Given the description of an element on the screen output the (x, y) to click on. 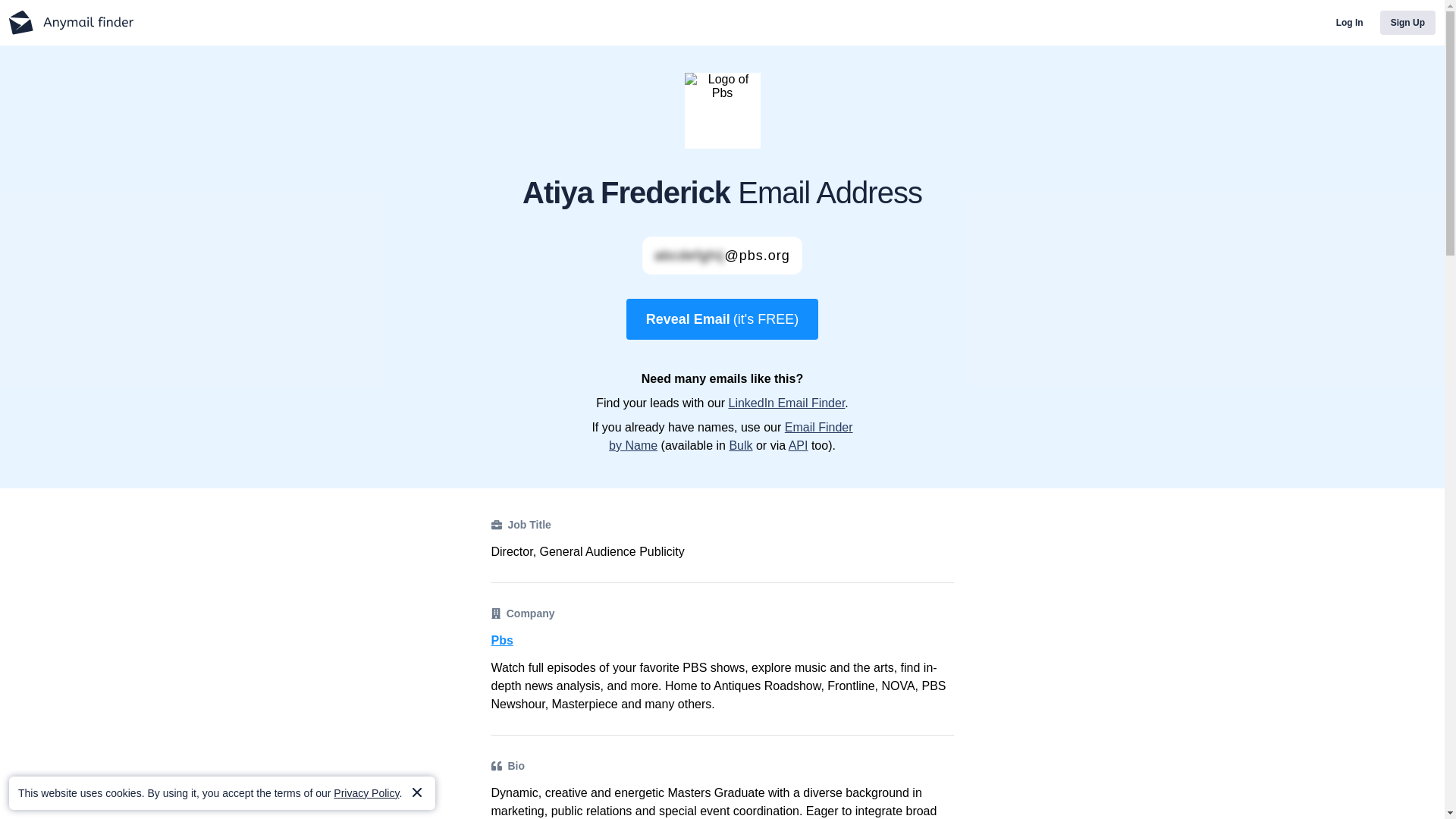
Bulk (740, 445)
Pbs (722, 640)
API (798, 445)
LinkedIn Email Finder (786, 402)
Email Finder by Name (730, 436)
Log In (1349, 22)
Sign Up (1407, 22)
